Given the description of an element on the screen output the (x, y) to click on. 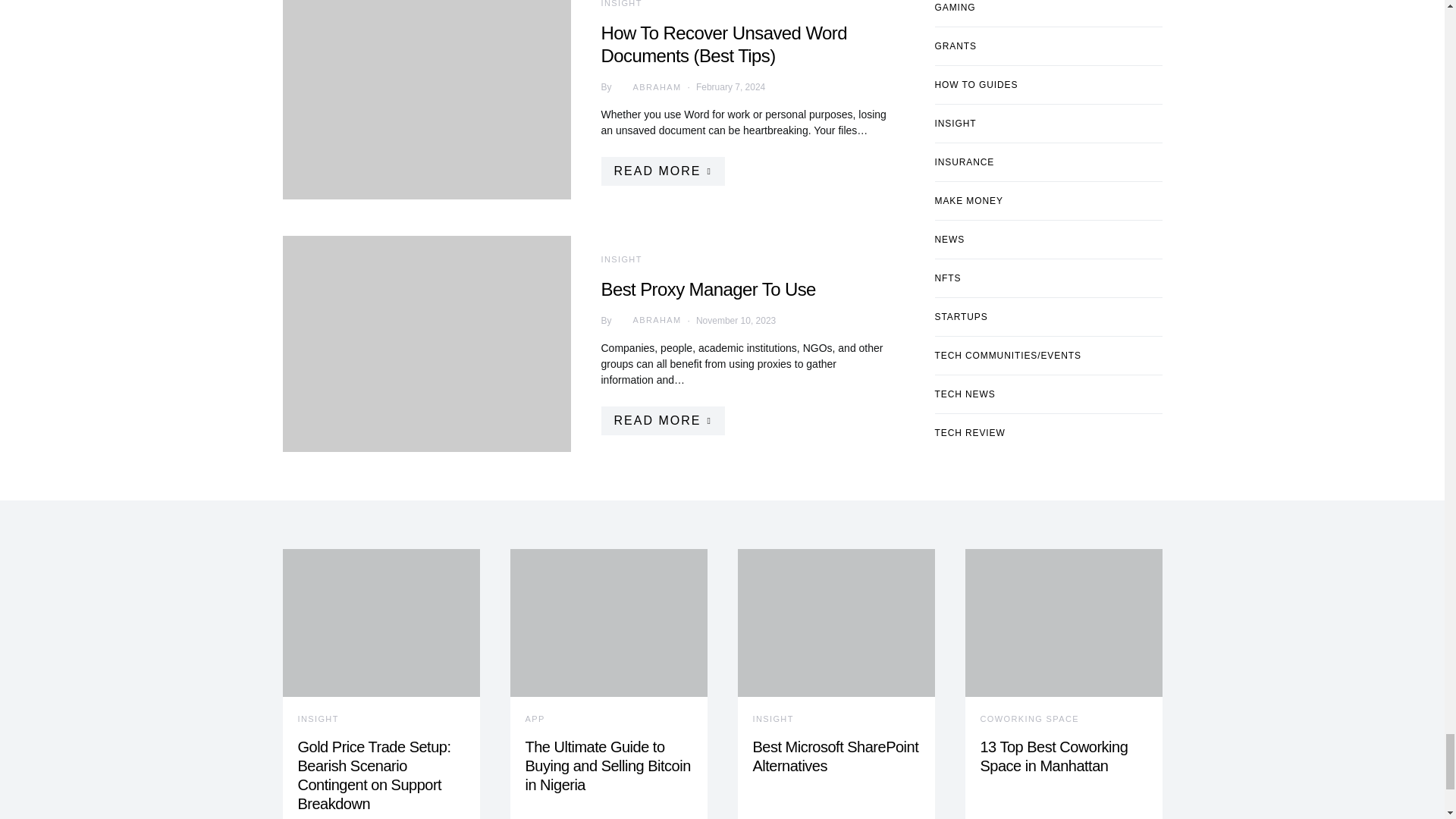
View all posts by Abraham (646, 87)
